Given the description of an element on the screen output the (x, y) to click on. 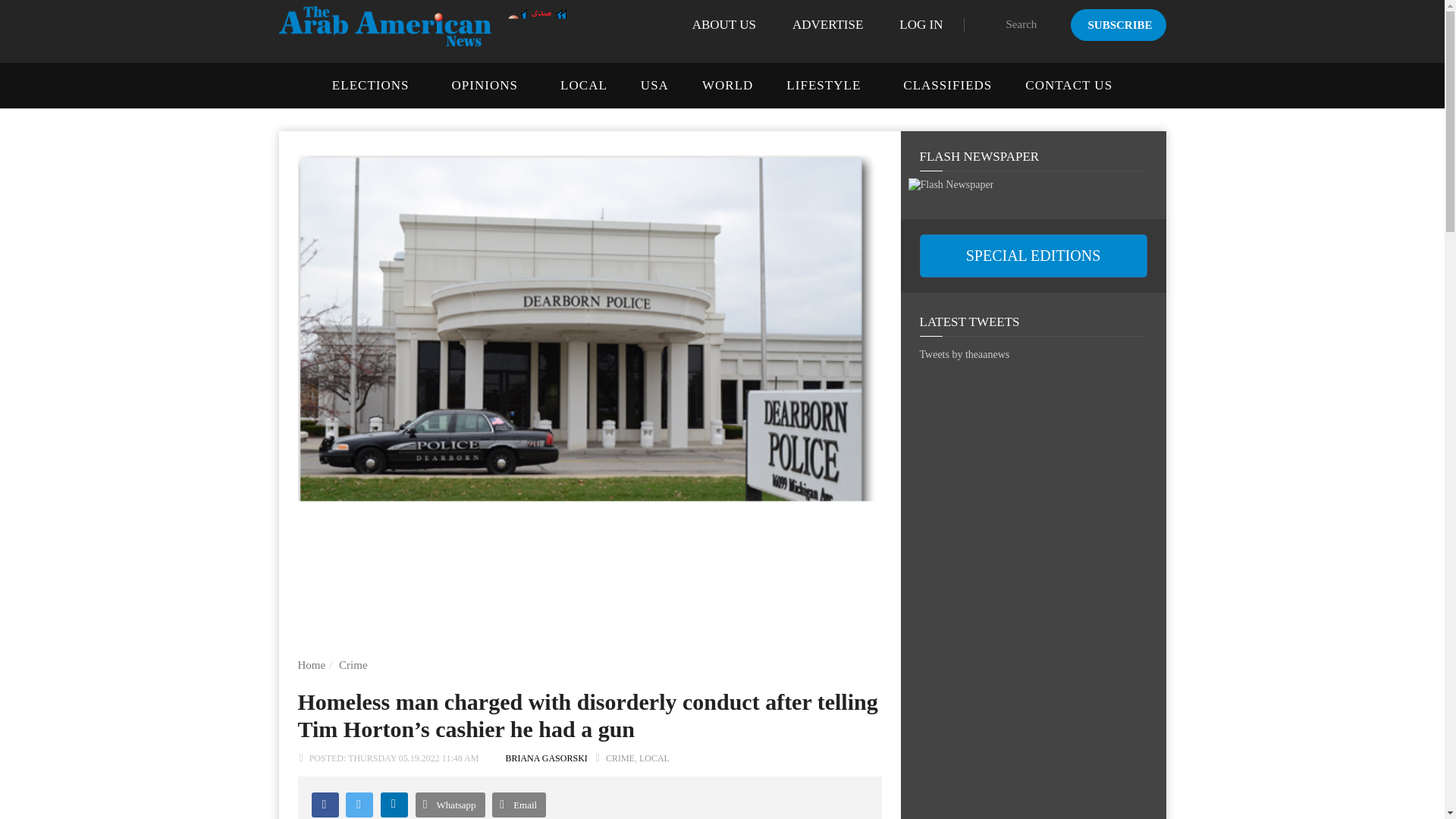
Crime (353, 664)
LOCAL (583, 84)
CONTACT US (1068, 84)
ELECTIONS (370, 84)
Home (310, 664)
ADVERTISE (827, 24)
CLASSIFIEDS (946, 84)
View all posts in Crime (619, 757)
Crime (353, 664)
WORLD (726, 84)
